Given the description of an element on the screen output the (x, y) to click on. 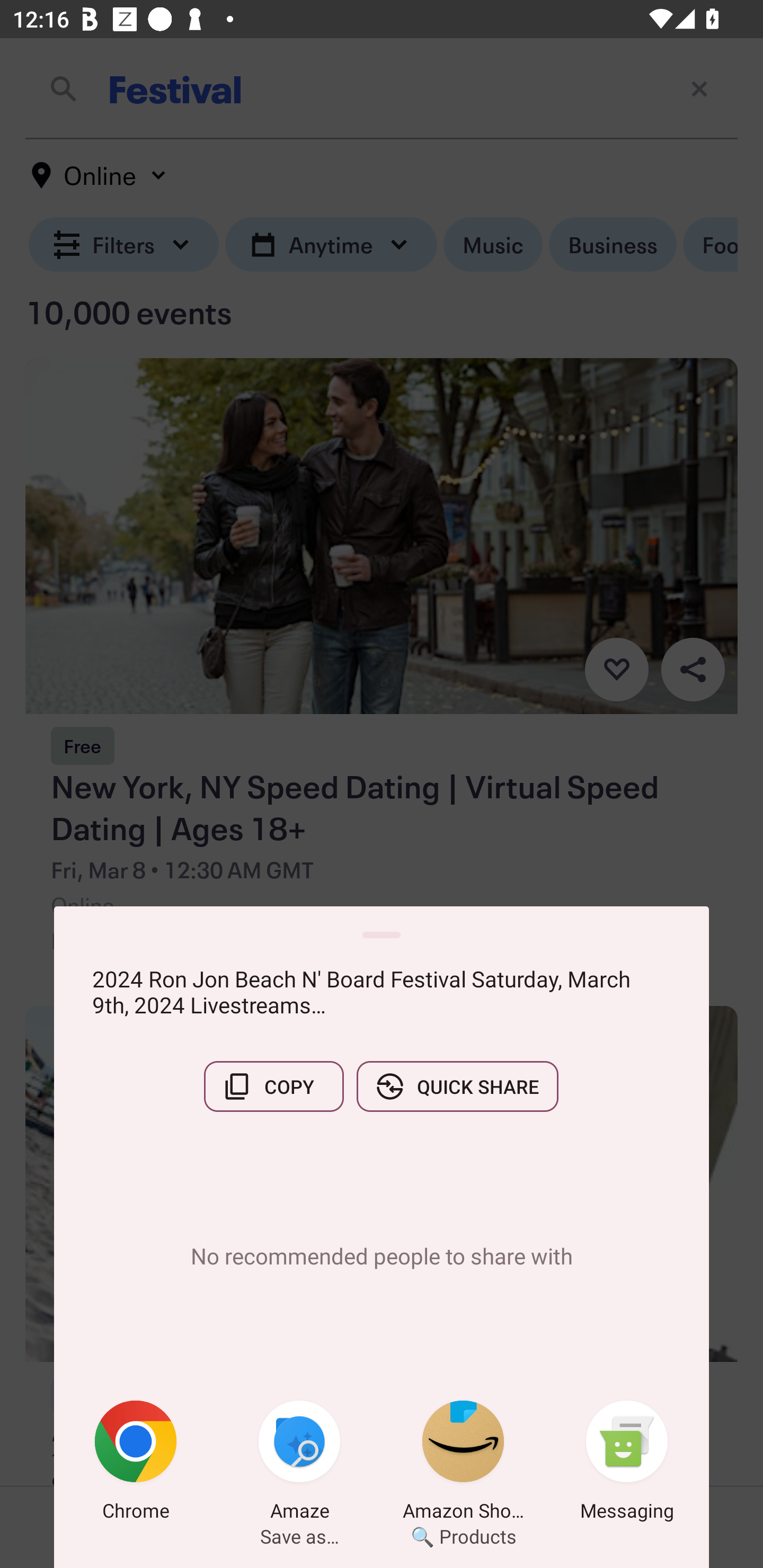
COPY (273, 1086)
QUICK SHARE (457, 1086)
Chrome (135, 1463)
Amaze Save as… (299, 1463)
Amazon Shopping 🔍 Products (463, 1463)
Messaging (626, 1463)
